Given the description of an element on the screen output the (x, y) to click on. 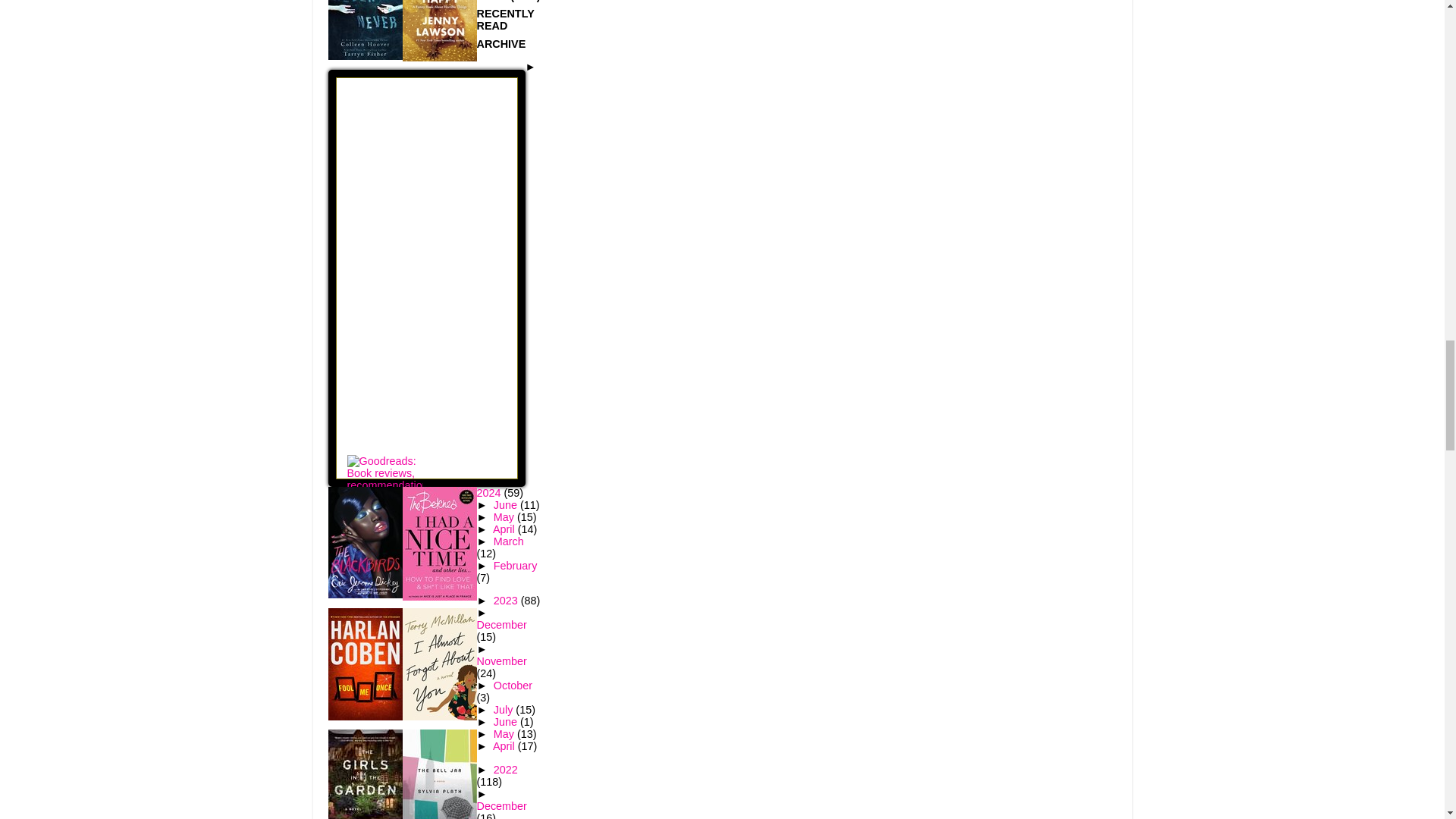
The Blackbirds (364, 594)
Furiously Happy: A Funny Book About Horrible Things (438, 57)
Fool Me Once (364, 716)
